Given the description of an element on the screen output the (x, y) to click on. 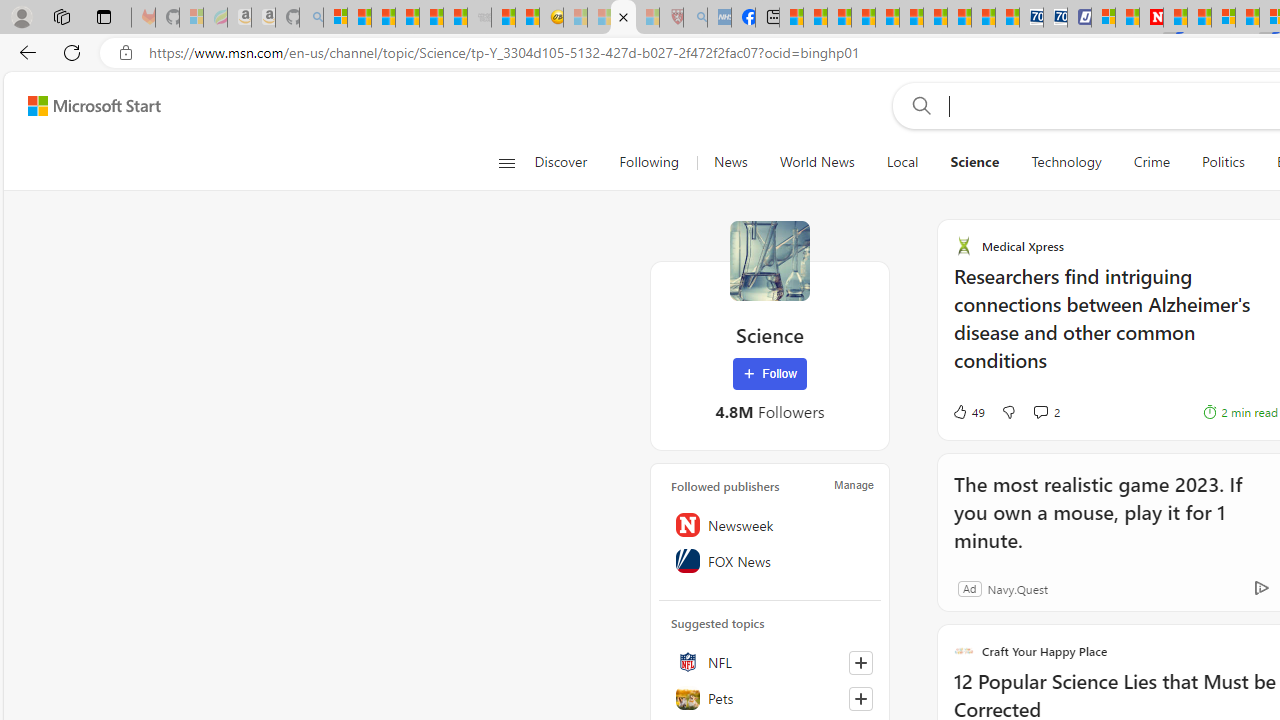
Cheap Hotels - Save70.com (1055, 17)
